Given the description of an element on the screen output the (x, y) to click on. 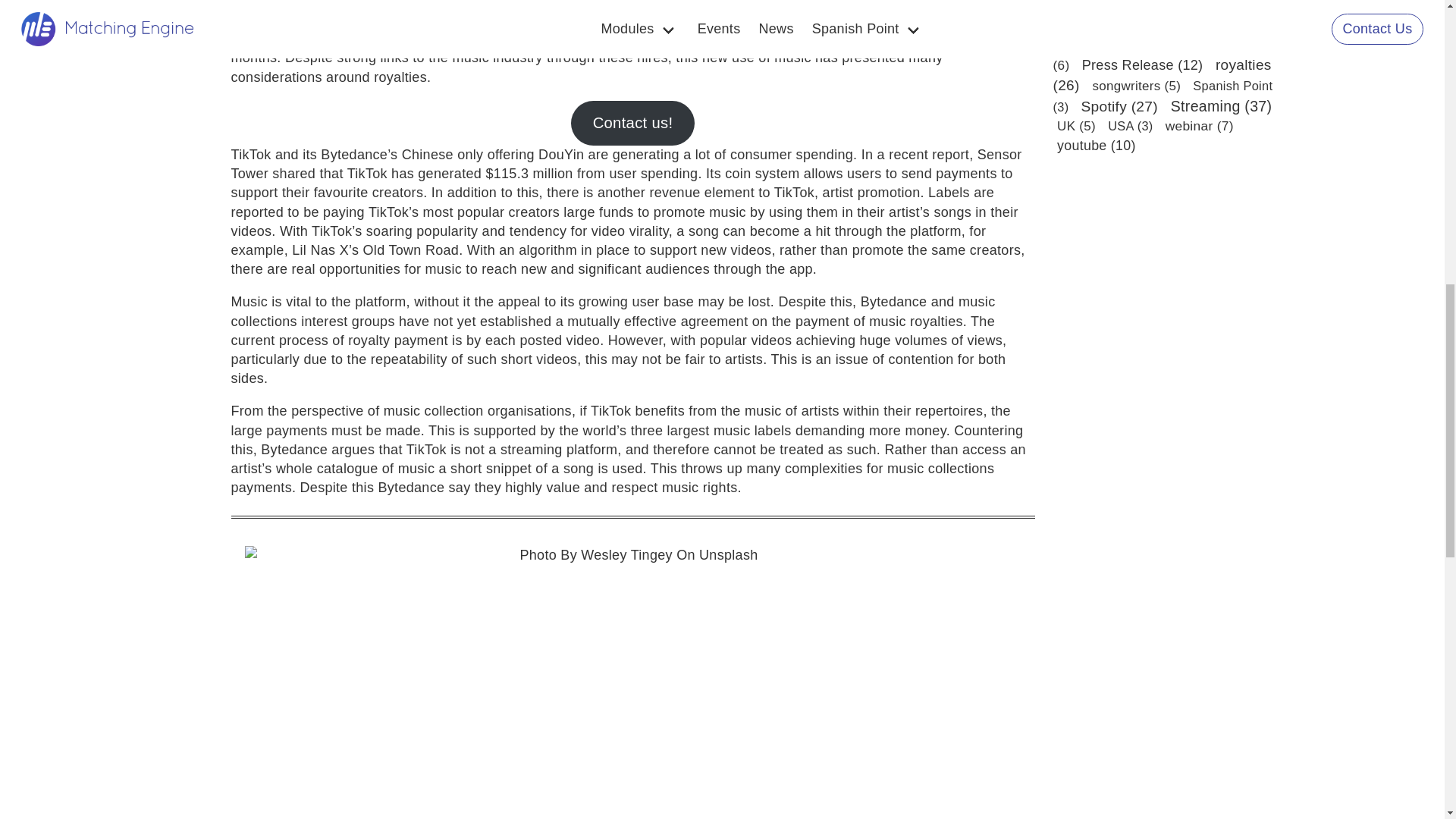
Contact us! (632, 122)
